Given the description of an element on the screen output the (x, y) to click on. 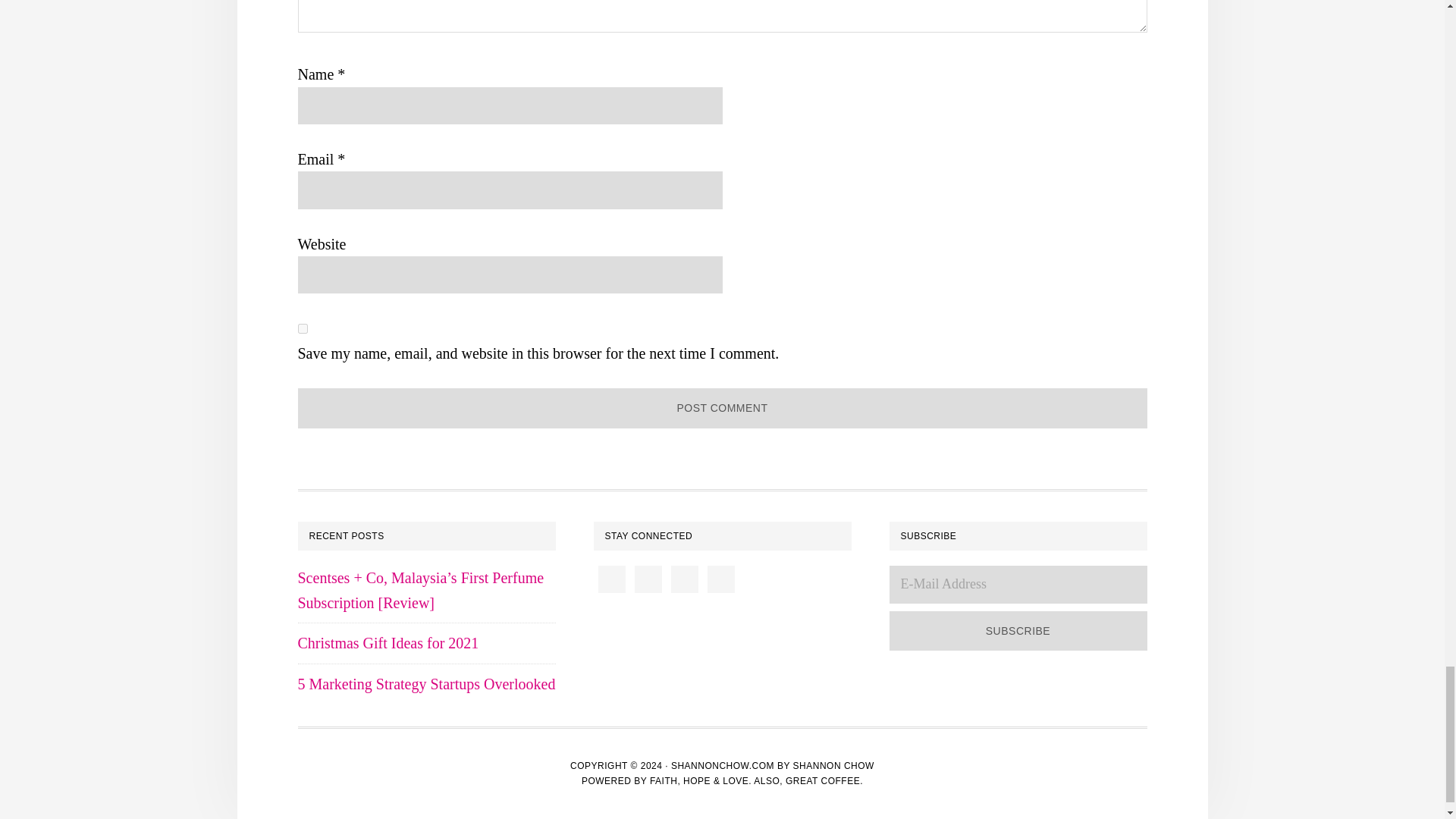
Subscribe (1017, 630)
Post Comment (722, 408)
yes (302, 328)
